Given the description of an element on the screen output the (x, y) to click on. 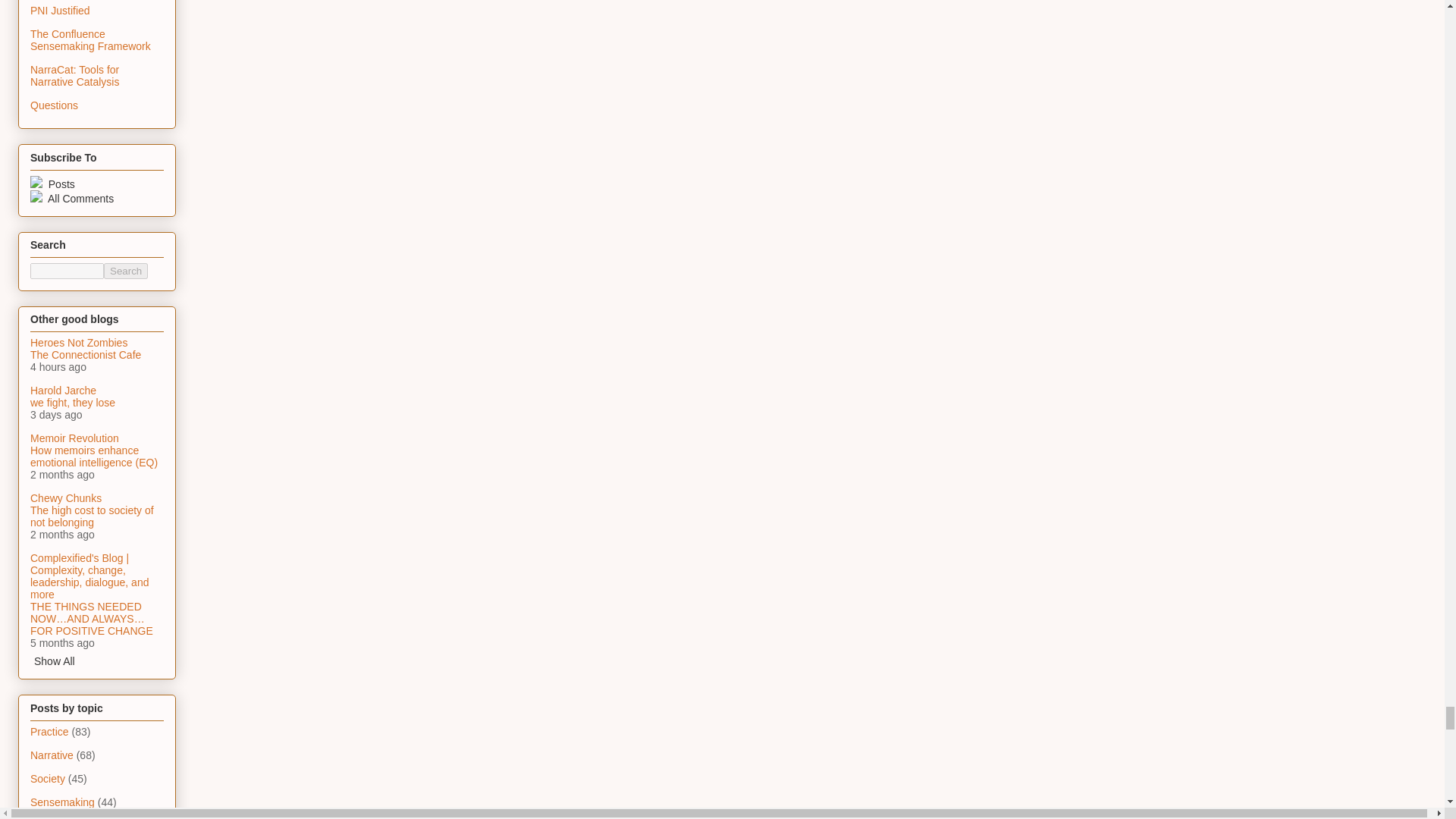
search (125, 270)
Search (125, 270)
search (66, 270)
Search (125, 270)
